Given the description of an element on the screen output the (x, y) to click on. 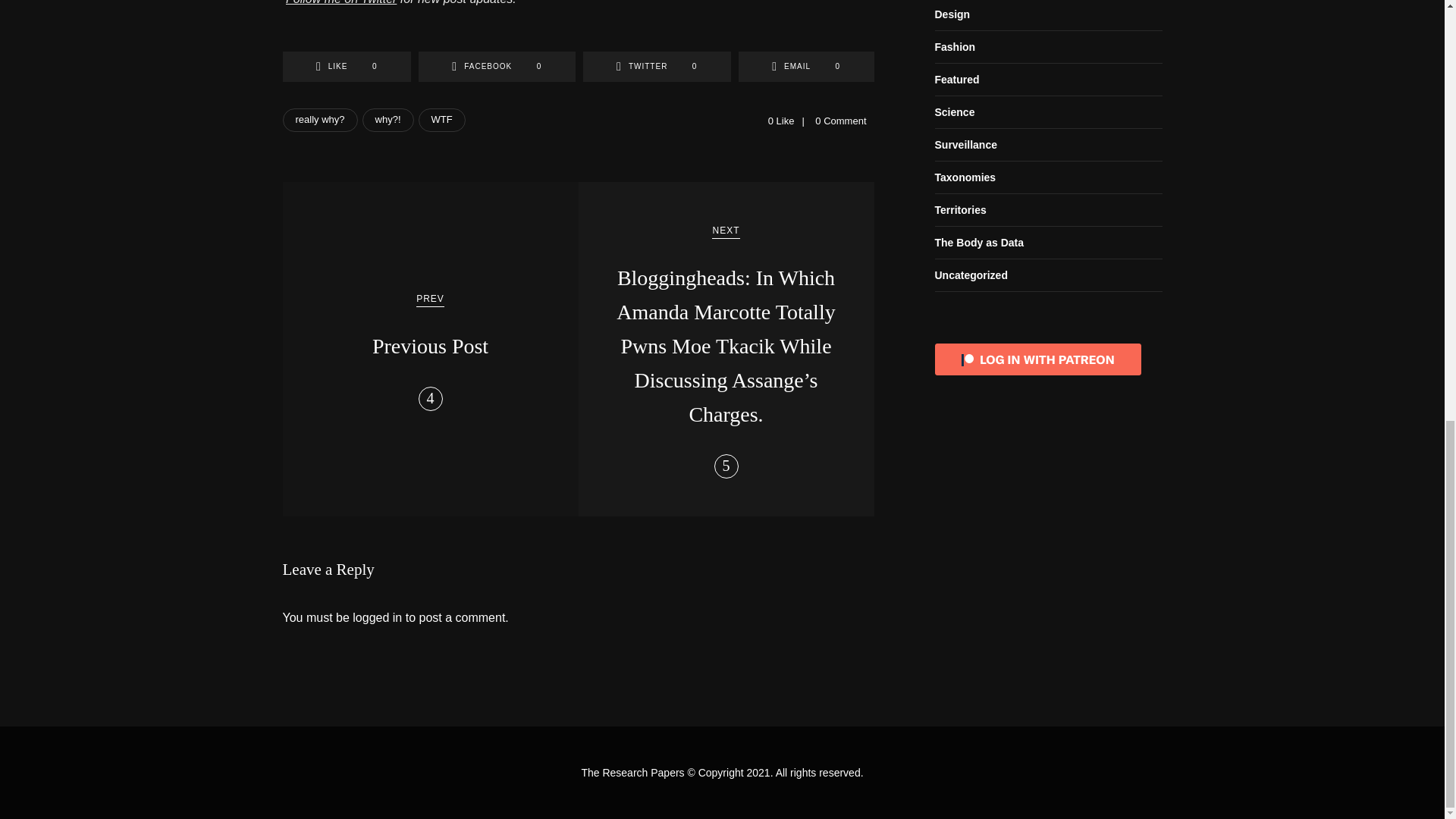
Facebook (497, 66)
Twitter (656, 66)
Follow me on Twitter (340, 2)
why?! (387, 119)
really why? (319, 119)
0 Comment (840, 120)
Email (806, 66)
Like (346, 66)
WTF (442, 119)
